Given the description of an element on the screen output the (x, y) to click on. 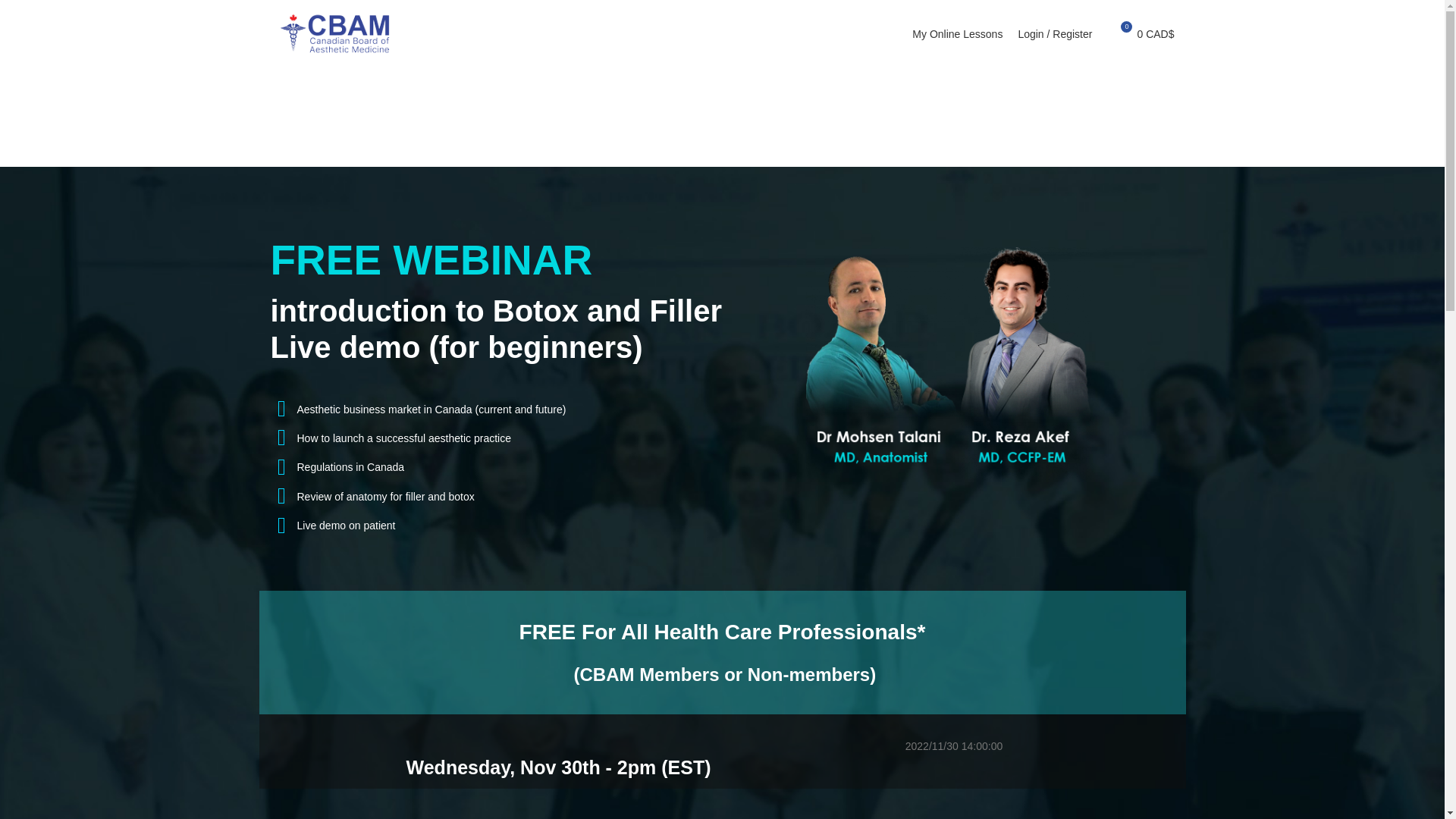
My account (1054, 33)
Shopping cart (1139, 33)
My Online Lessons (957, 33)
